Given the description of an element on the screen output the (x, y) to click on. 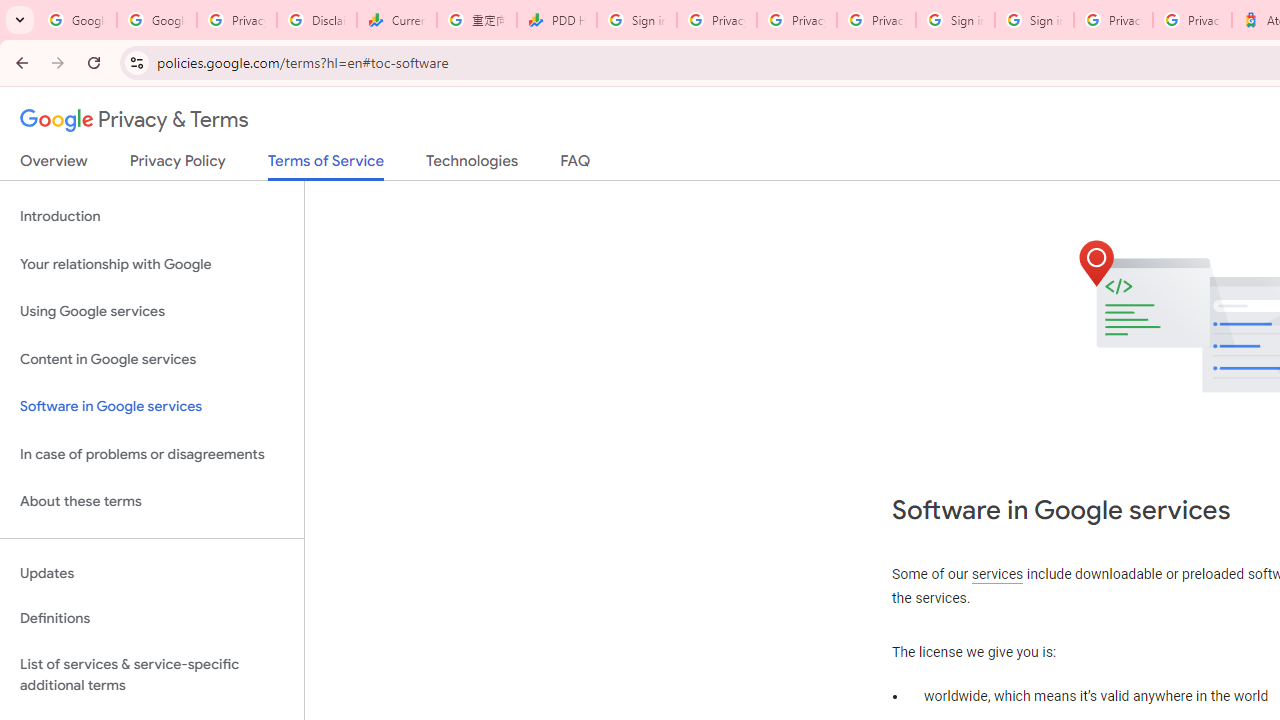
services (997, 574)
Currencies - Google Finance (396, 20)
